Given the description of an element on the screen output the (x, y) to click on. 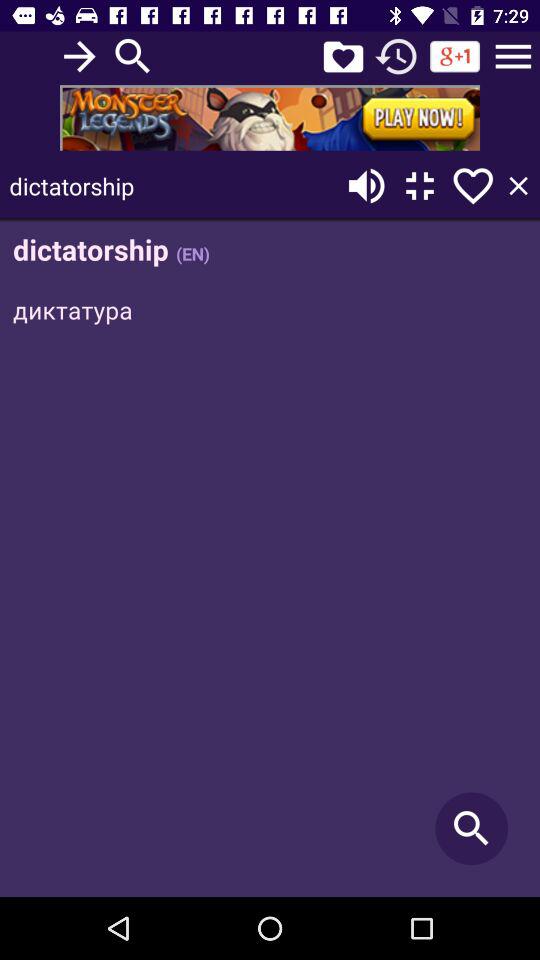
go next option (79, 56)
